Given the description of an element on the screen output the (x, y) to click on. 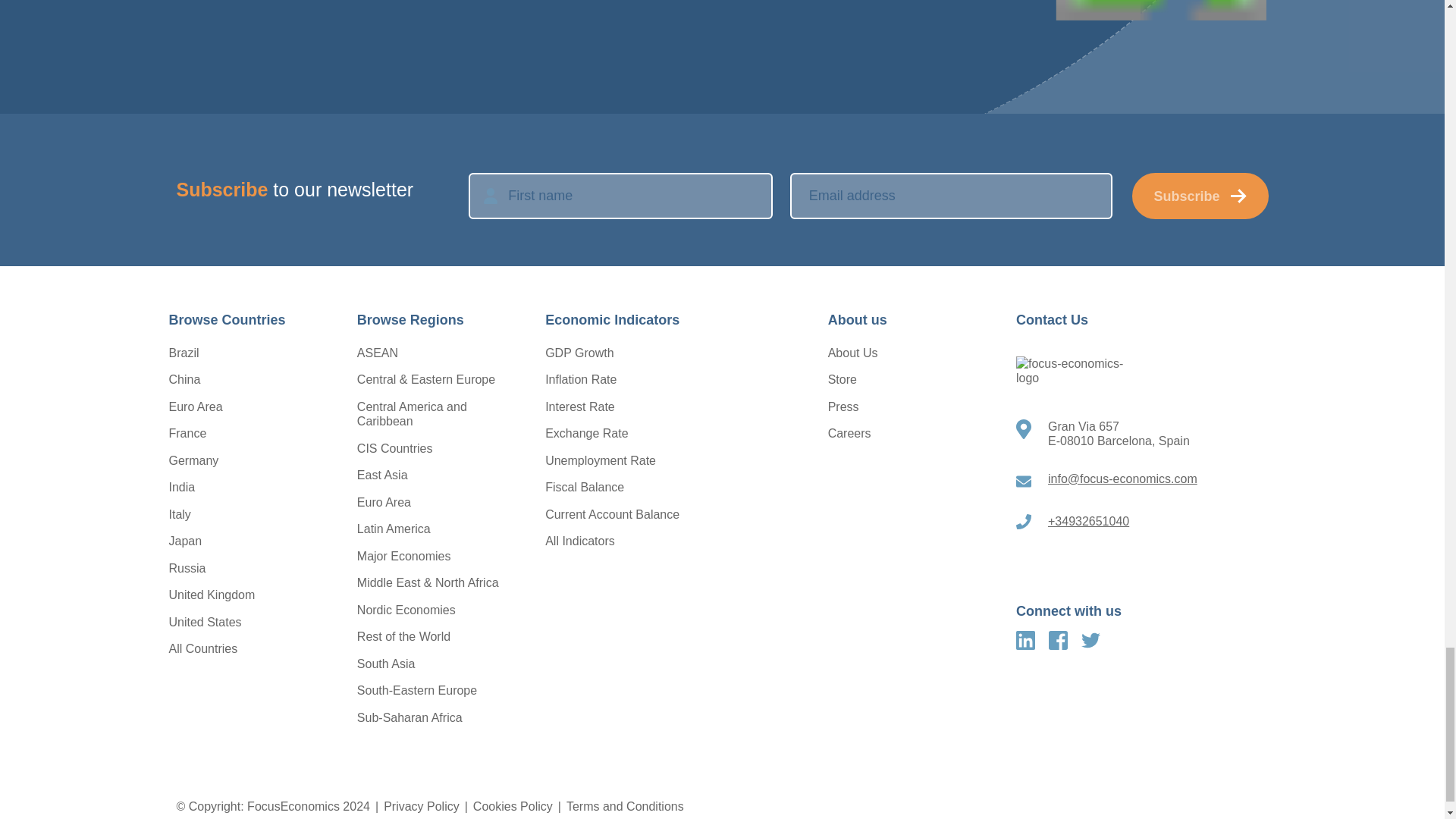
Subscribe (1200, 195)
